Given the description of an element on the screen output the (x, y) to click on. 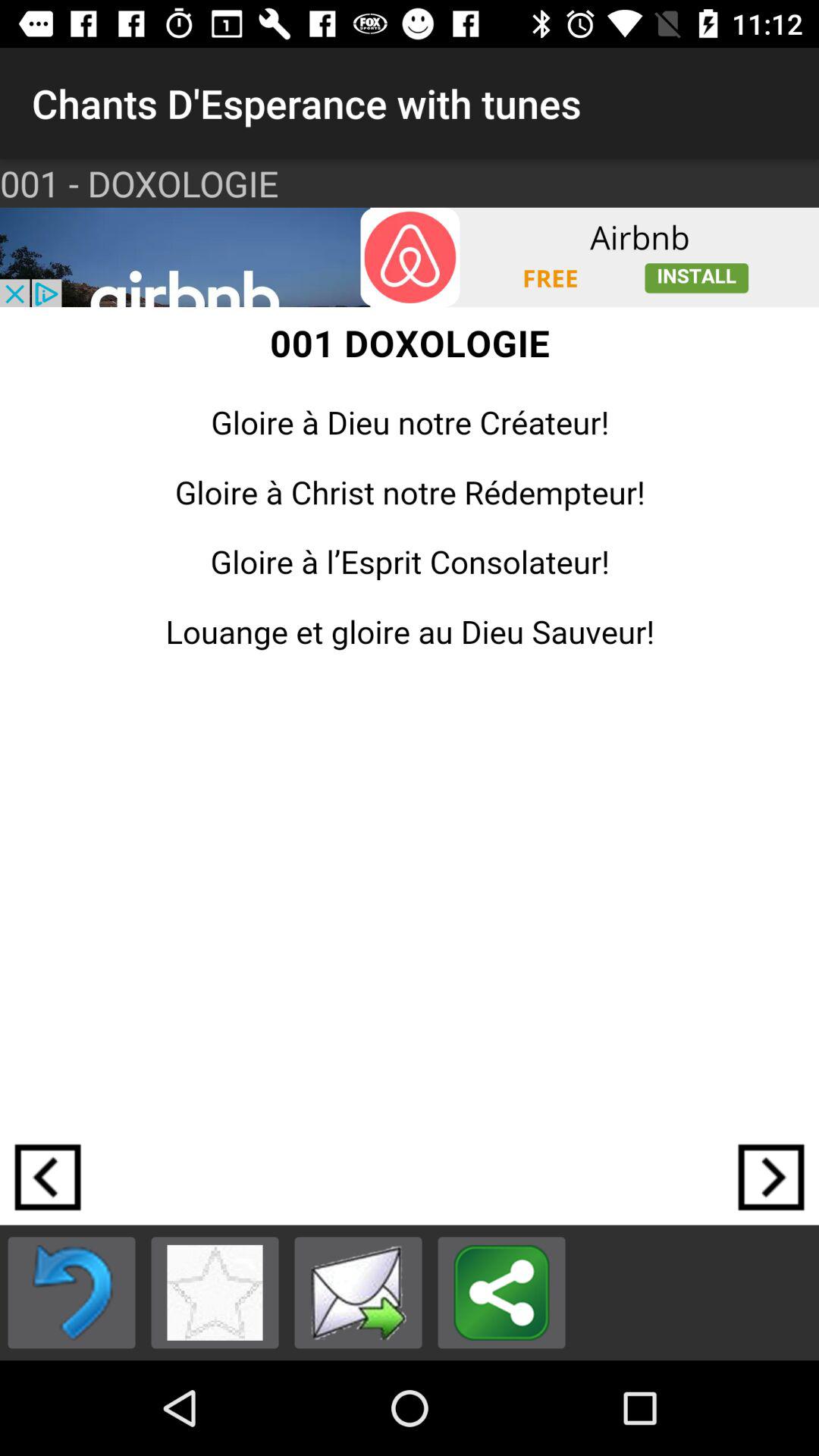
share the article (501, 1292)
